Given the description of an element on the screen output the (x, y) to click on. 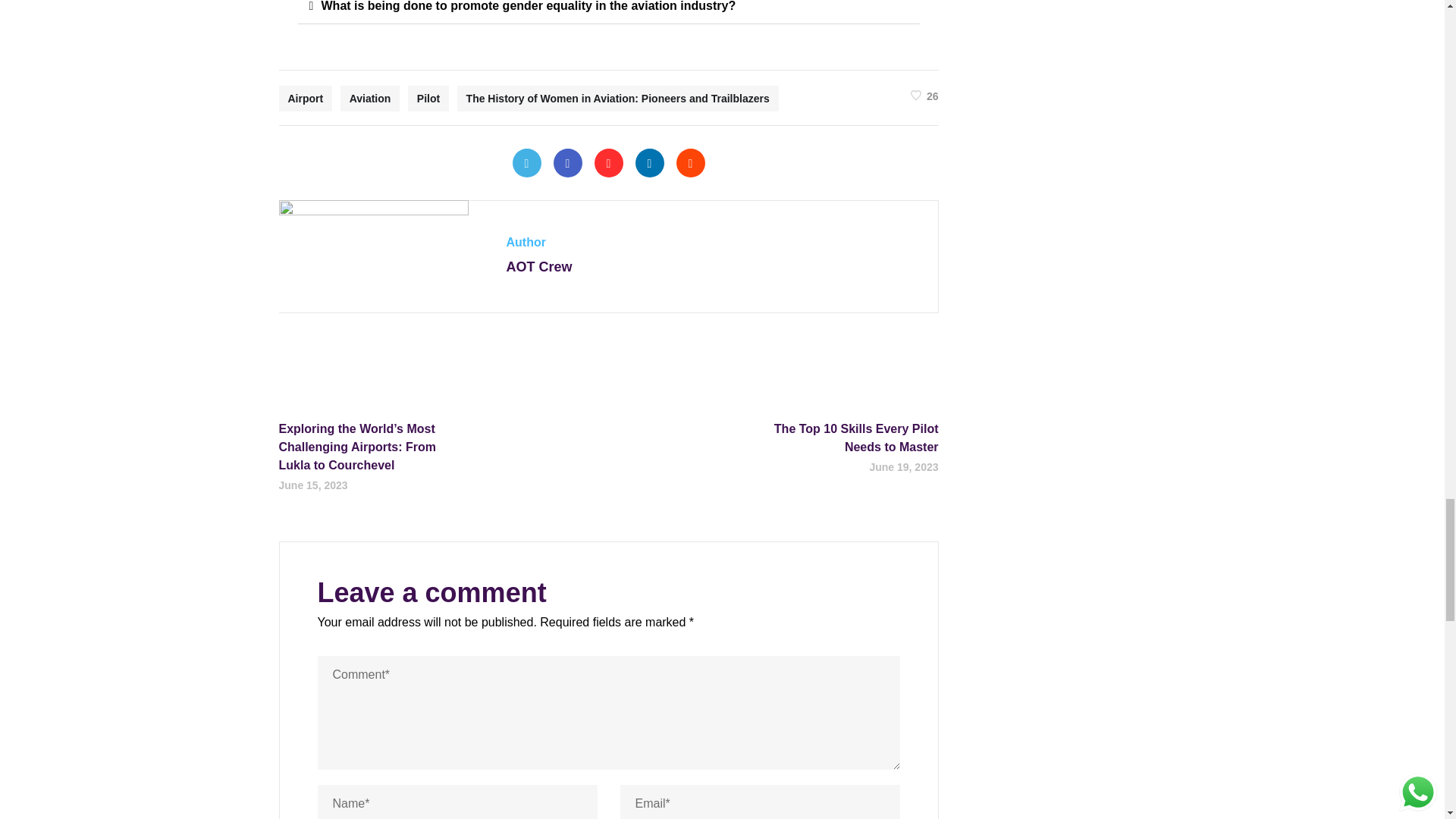
LinkedIn (648, 162)
Reddit (690, 162)
Like (925, 94)
Pinterest (608, 162)
Facebook (567, 162)
Twitter (526, 162)
